Given the description of an element on the screen output the (x, y) to click on. 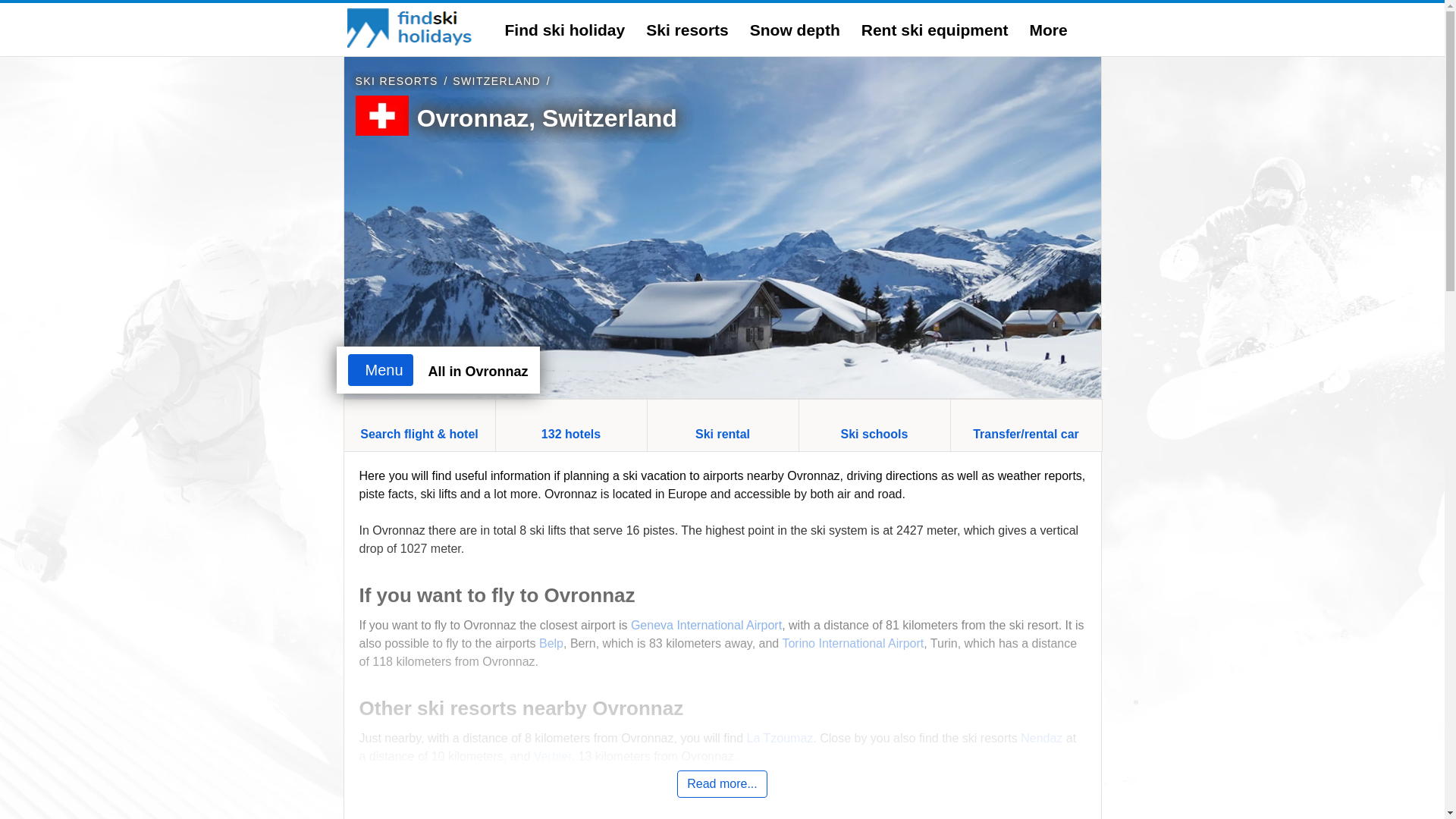
Ski resorts (687, 29)
Switzerland (544, 164)
Rent ski equipment (935, 29)
FindSkiHolidays.com (411, 26)
Find ski holiday (565, 29)
Ski resorts (687, 29)
Find ski holiday (565, 29)
Switzerland (496, 80)
Ski resorts (396, 80)
Snow depth (794, 29)
